Given the description of an element on the screen output the (x, y) to click on. 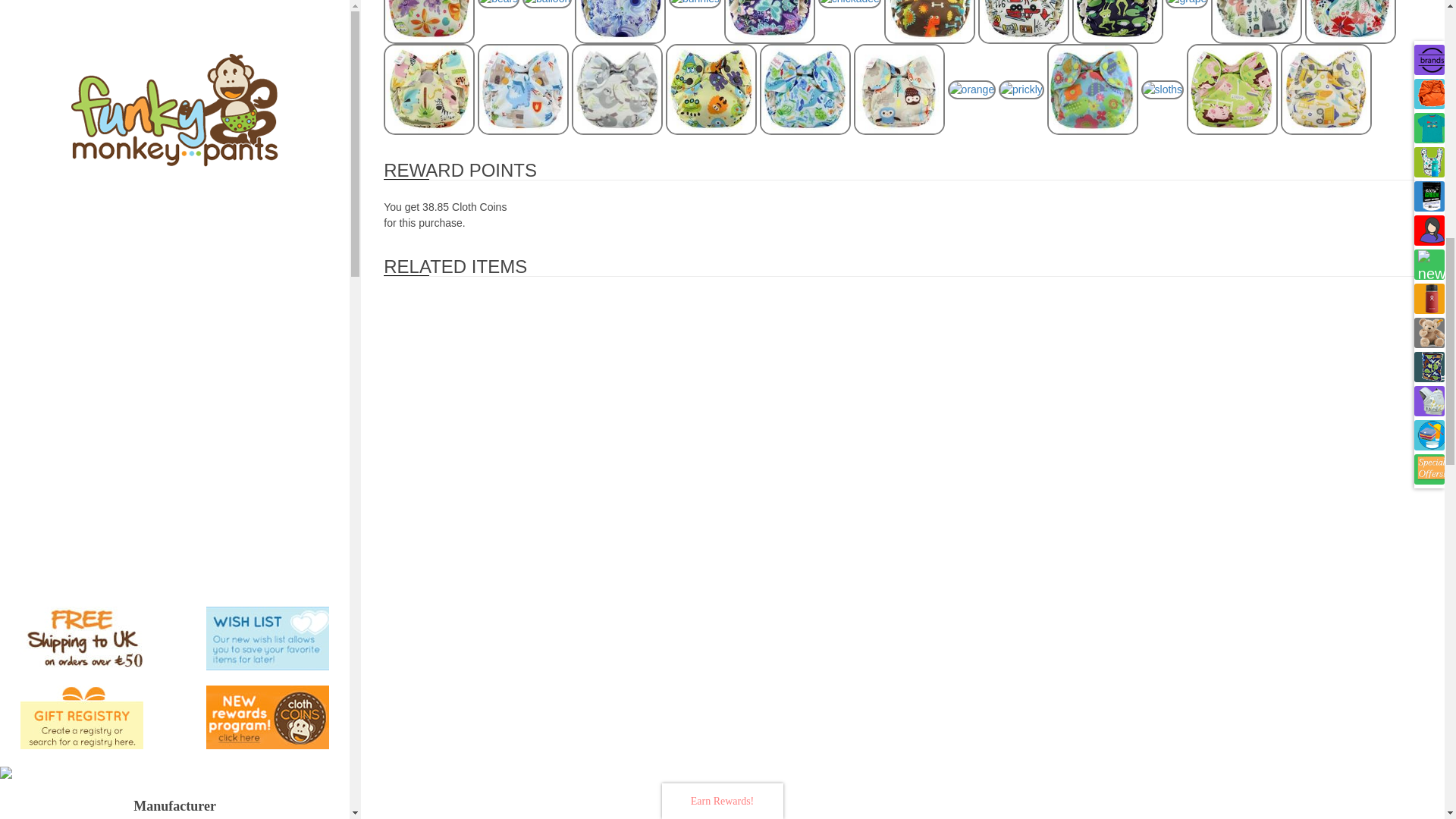
Disana microfibre cover (175, 507)
Planetwise medium wetbag (174, 425)
Primal suds no bo freshcobar - deodorant (211, 782)
